Given the description of an element on the screen output the (x, y) to click on. 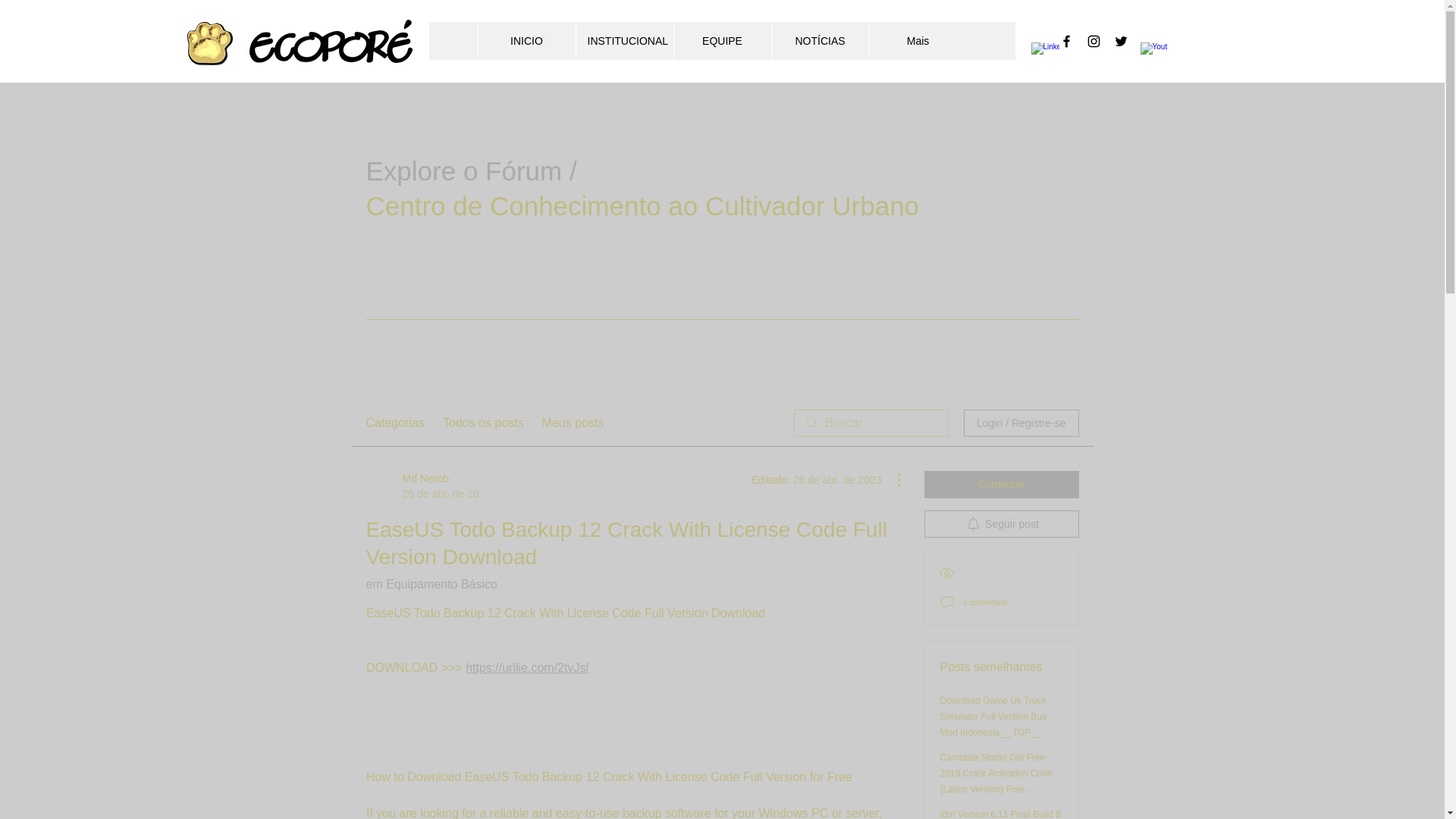
Todos os posts (421, 485)
Categorias (483, 423)
EQUIPE (394, 423)
INICIO (721, 40)
INSTITUCIONAL (526, 40)
Meus posts (623, 40)
